Given the description of an element on the screen output the (x, y) to click on. 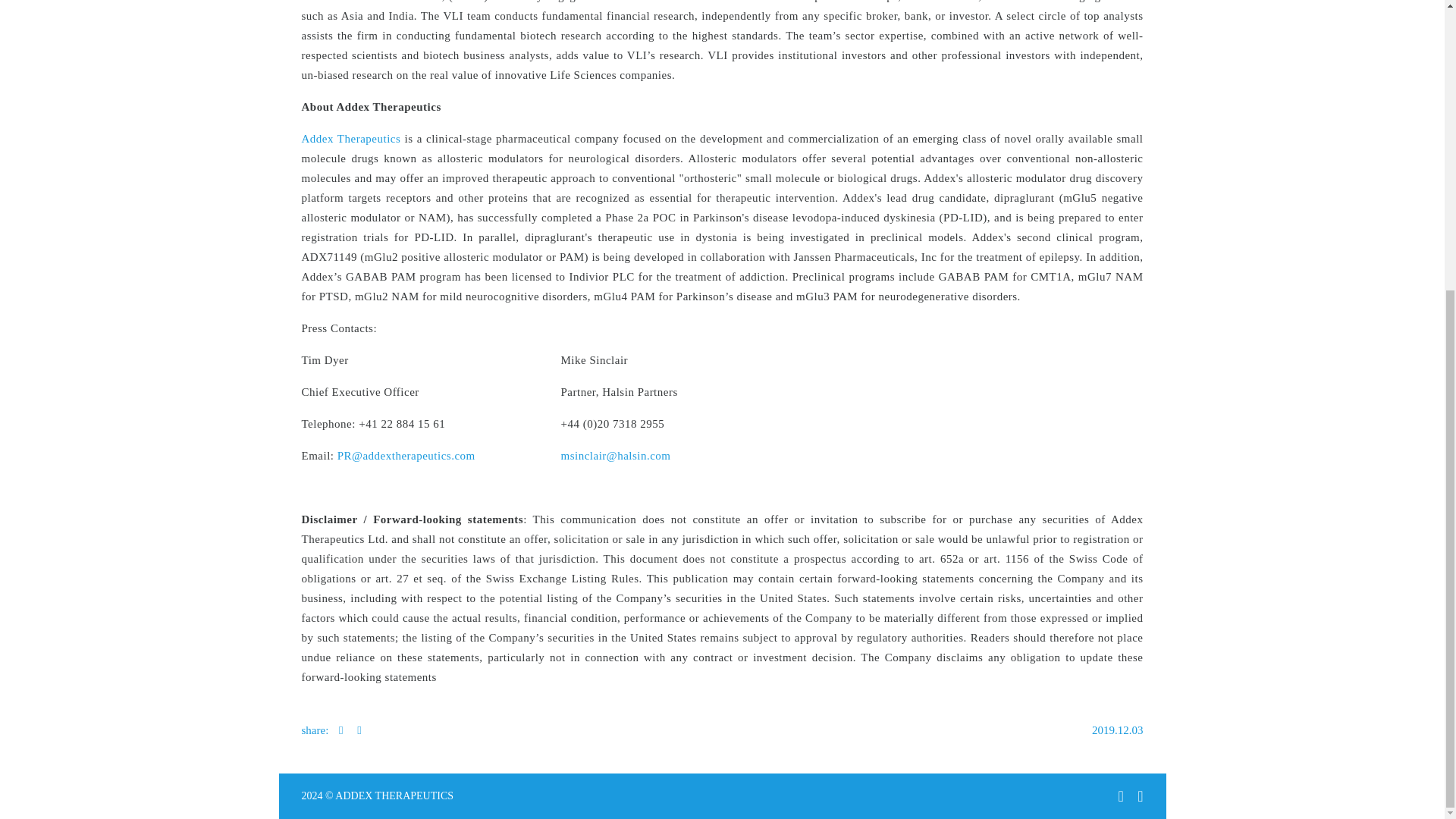
Addex Therapeutics (351, 138)
